Given the description of an element on the screen output the (x, y) to click on. 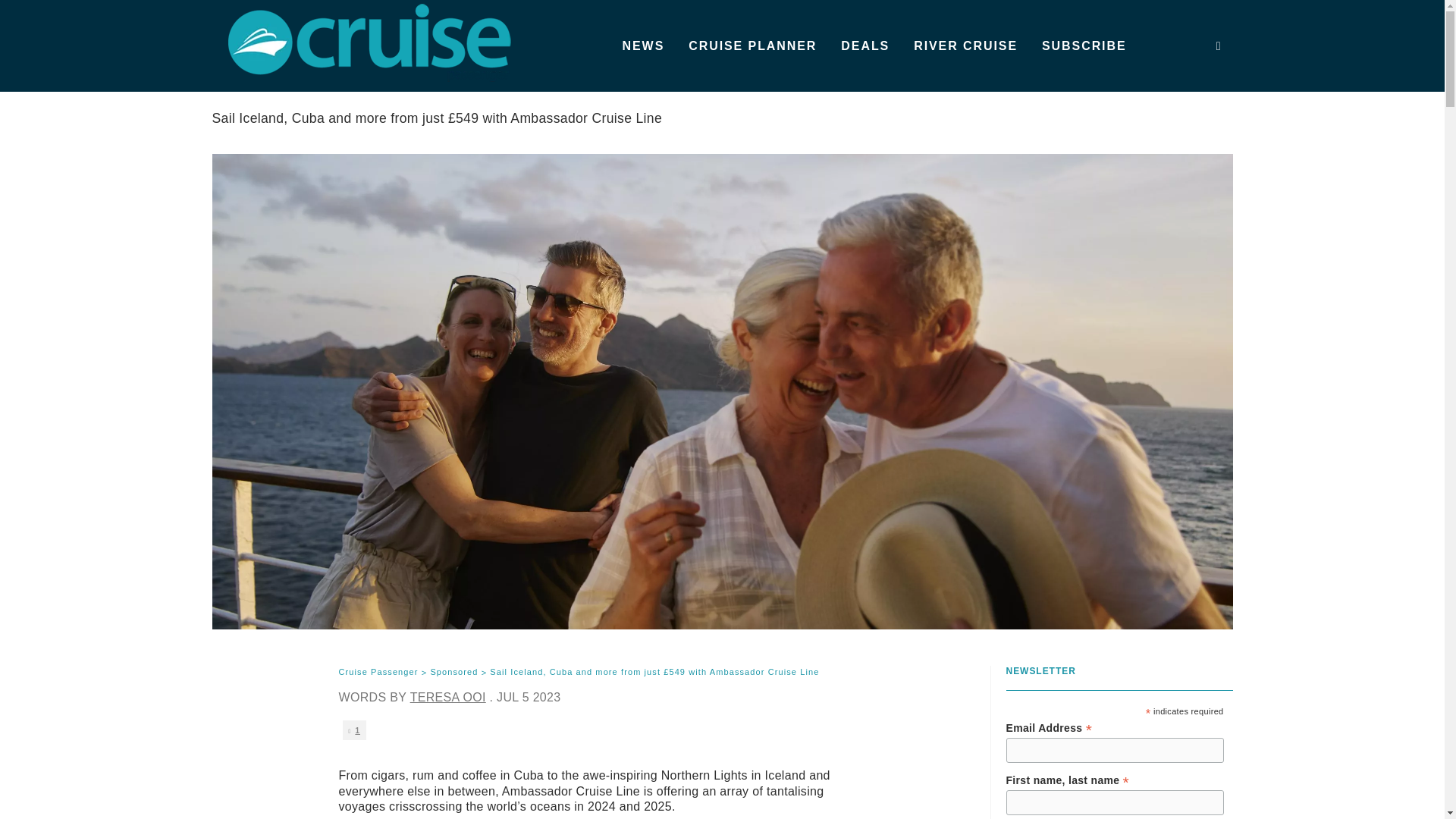
RIVER CRUISE (965, 45)
CRUISE PLANNER (752, 45)
SUBSCRIBE (1083, 45)
Sponsored (453, 672)
TERESA OOI (448, 697)
Go to Cruise Passenger. (377, 672)
Cruise Passenger (377, 672)
Go to the Sponsored Category archives. (453, 672)
NEWS (643, 45)
DEALS (864, 45)
